Given the description of an element on the screen output the (x, y) to click on. 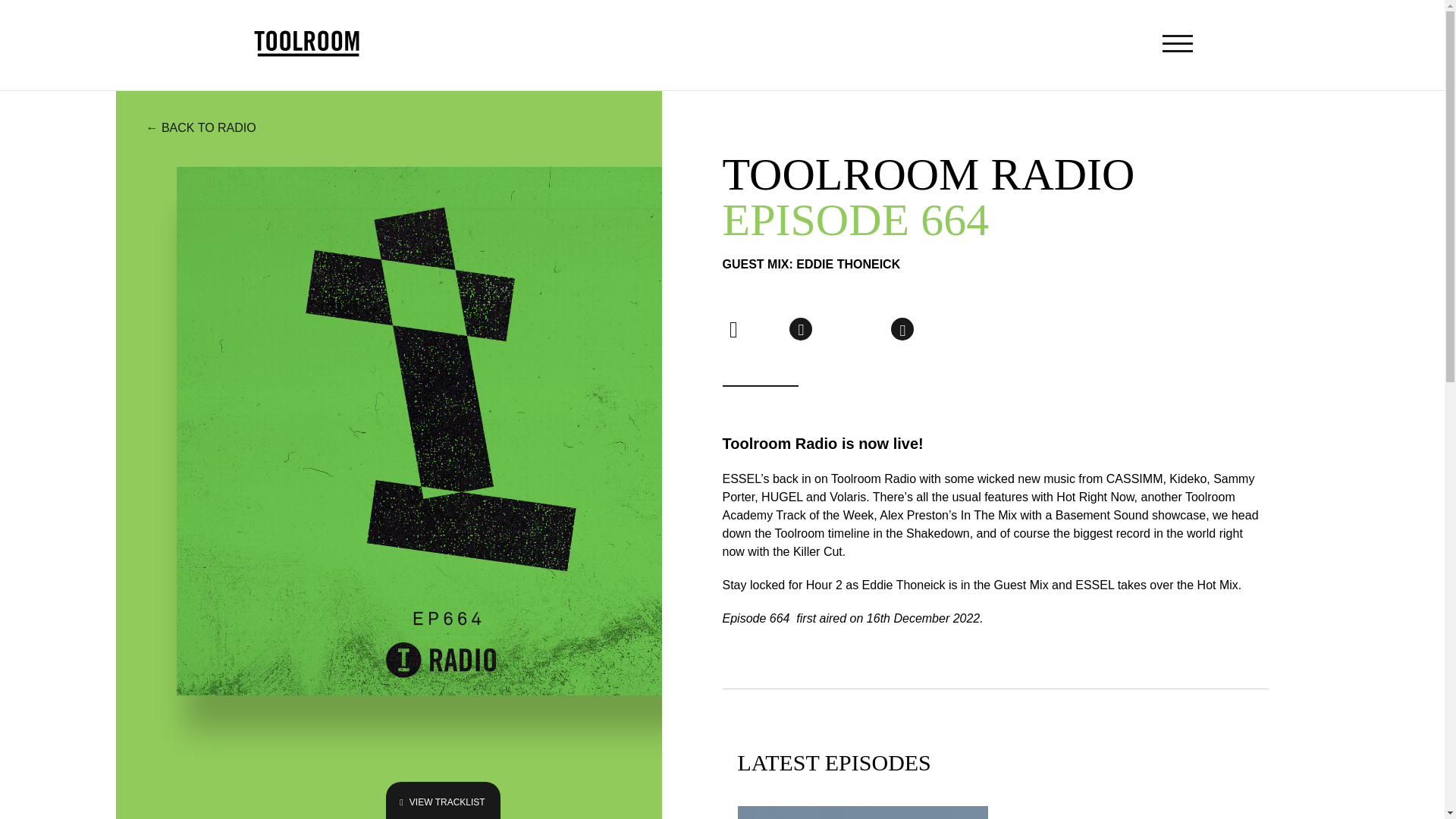
appleMusic (800, 328)
Listen on spotify (733, 327)
spotify (733, 327)
Listen on mixcloud (868, 331)
deezer (766, 331)
Listen on appleMusic (800, 328)
amazonMusic (902, 328)
mixcloud (868, 331)
Listen on amazonMusic (902, 328)
Listen on deezer (766, 331)
